Given the description of an element on the screen output the (x, y) to click on. 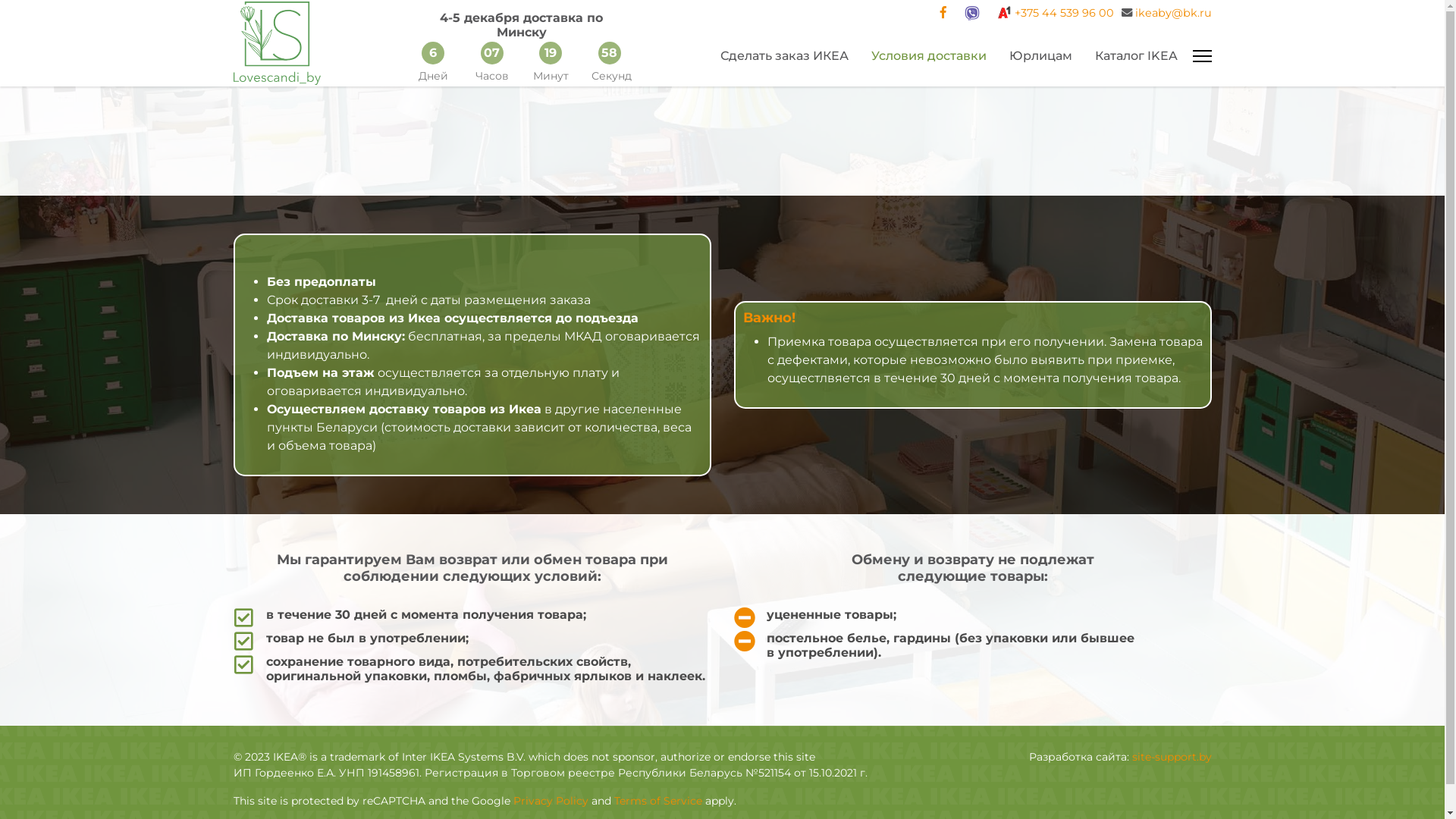
+375 44 539 96 00 Element type: text (1063, 12)
site-support.by Element type: text (1171, 756)
Navigation Element type: hover (1201, 55)
ikeaby@bk.ru Element type: text (1172, 12)
Privacy Policy Element type: text (549, 800)
Terms of Service Element type: text (658, 800)
